Given the description of an element on the screen output the (x, y) to click on. 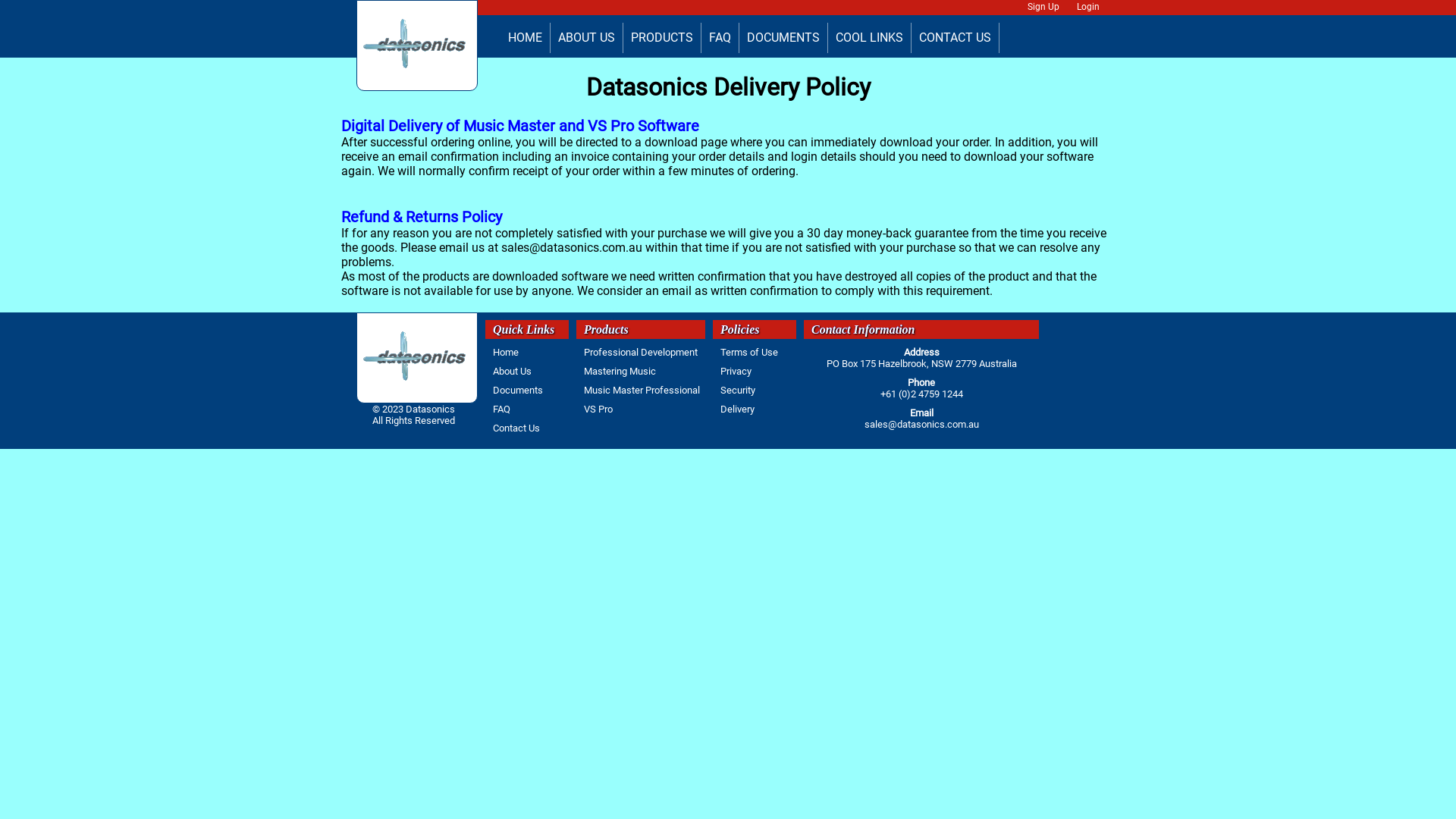
About Us Element type: text (508, 370)
PRODUCTS Element type: text (661, 37)
Security Element type: text (733, 389)
Privacy Element type: text (731, 370)
Documents Element type: text (513, 389)
VS Pro Element type: text (594, 408)
DOCUMENTS Element type: text (782, 37)
Delivery Element type: text (733, 408)
Professional Development Element type: text (636, 351)
FAQ Element type: text (497, 408)
Mastering Music Element type: text (615, 370)
FAQ Element type: text (720, 37)
Music Master Professional Element type: text (637, 389)
Terms of Use Element type: text (745, 351)
Home Element type: text (501, 351)
ABOUT US Element type: text (586, 37)
COOL LINKS Element type: text (869, 37)
Contact Us Element type: text (512, 427)
HOME Element type: text (525, 37)
CONTACT US Element type: text (955, 37)
